Given the description of an element on the screen output the (x, y) to click on. 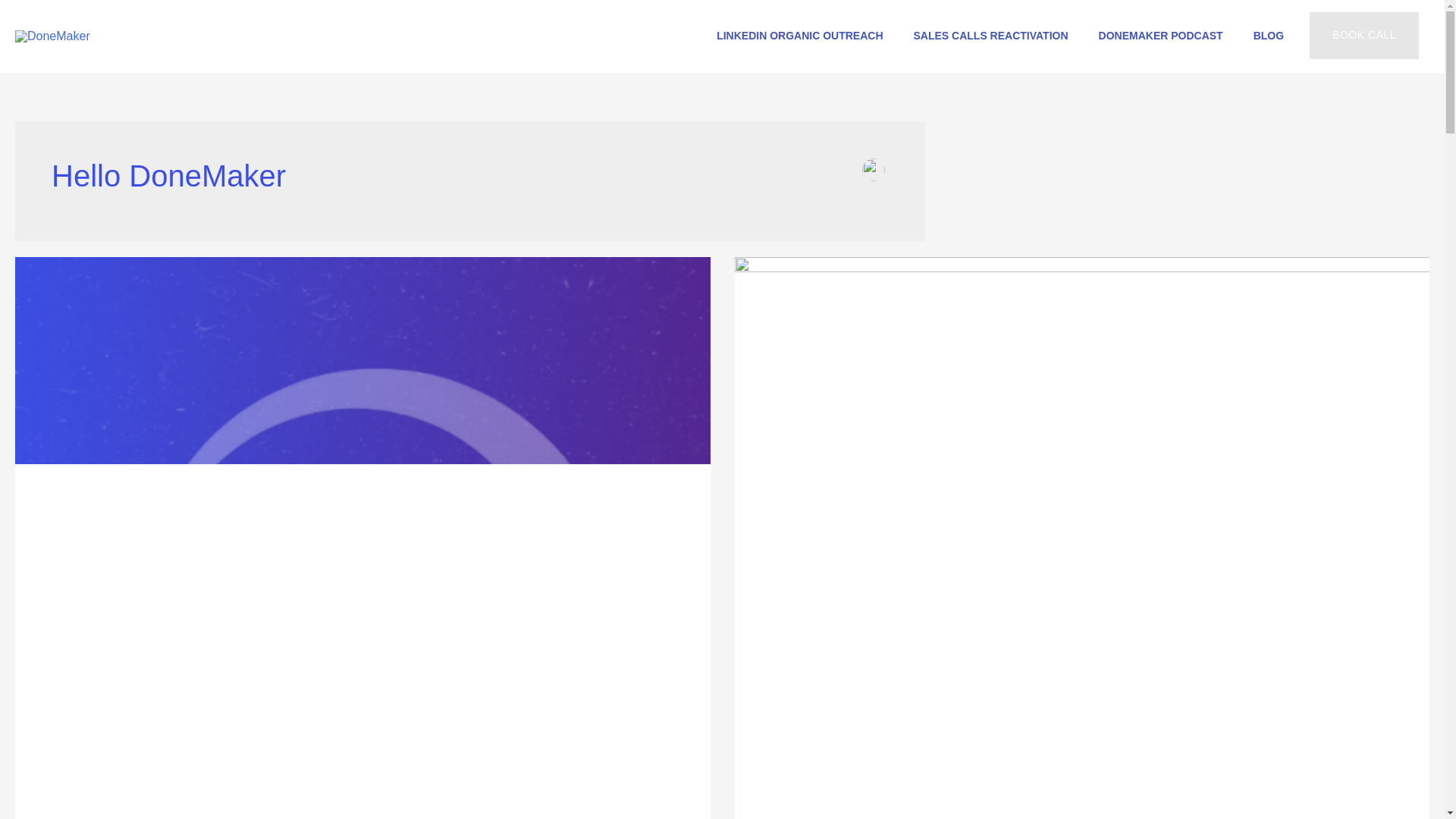
BLOG (1268, 35)
SALES CALLS REACTIVATION (990, 35)
BOOK CALL (1363, 35)
LINKEDIN ORGANIC OUTREACH (799, 35)
DONEMAKER PODCAST (1161, 35)
